Given the description of an element on the screen output the (x, y) to click on. 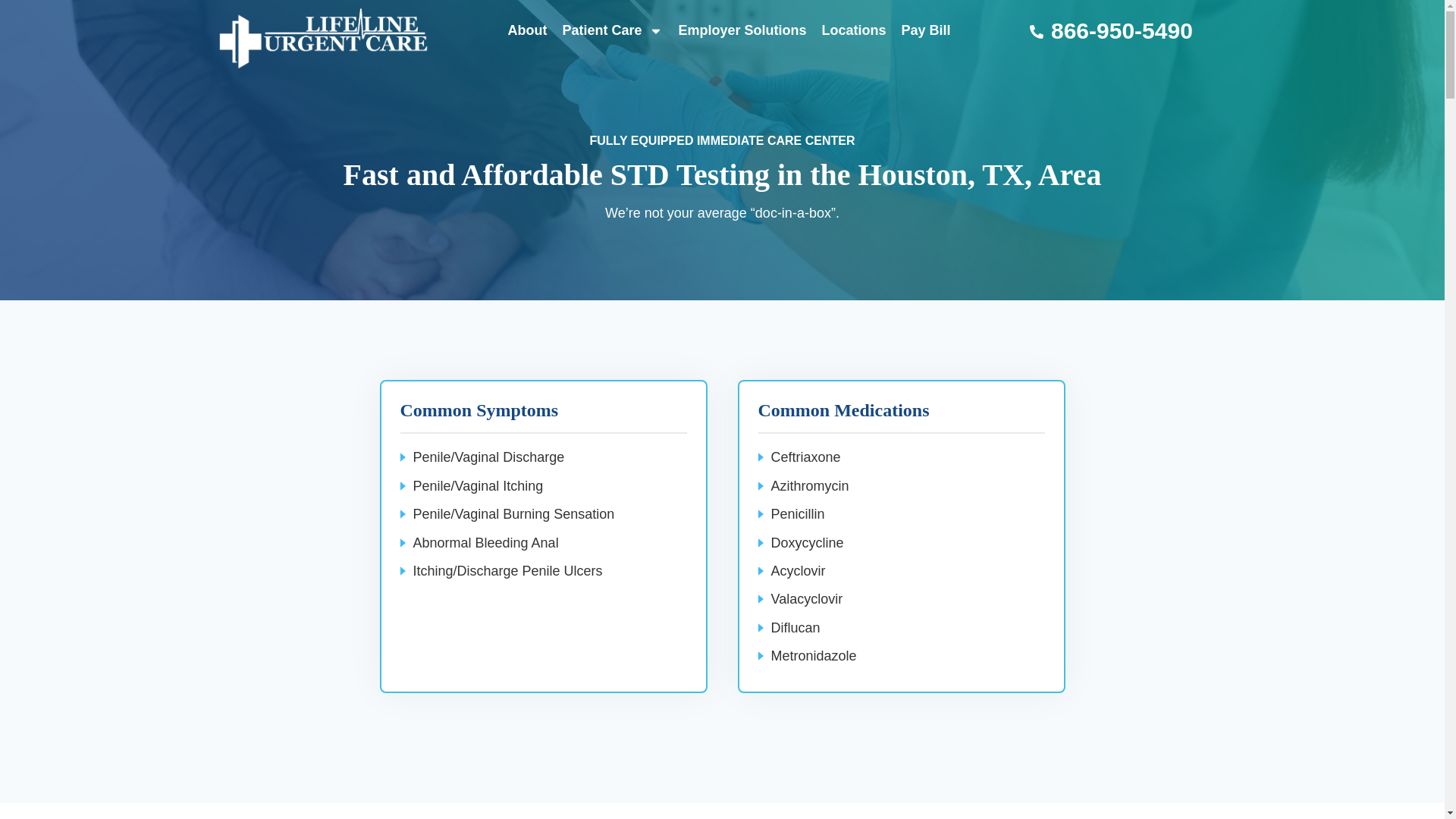
Penicillin (797, 513)
Diflucan (794, 627)
About (526, 30)
Locations (853, 30)
Acyclovir (797, 570)
Doxycycline (806, 542)
Pay Bill (925, 30)
866-950-5490 (1124, 30)
Patient Care (611, 30)
Metronidazole (813, 655)
Azithromycin (809, 485)
Valacyclovir (806, 598)
Abnormal Bleeding Anal (484, 542)
Employer Solutions (741, 30)
Ceftriaxone (805, 457)
